Given the description of an element on the screen output the (x, y) to click on. 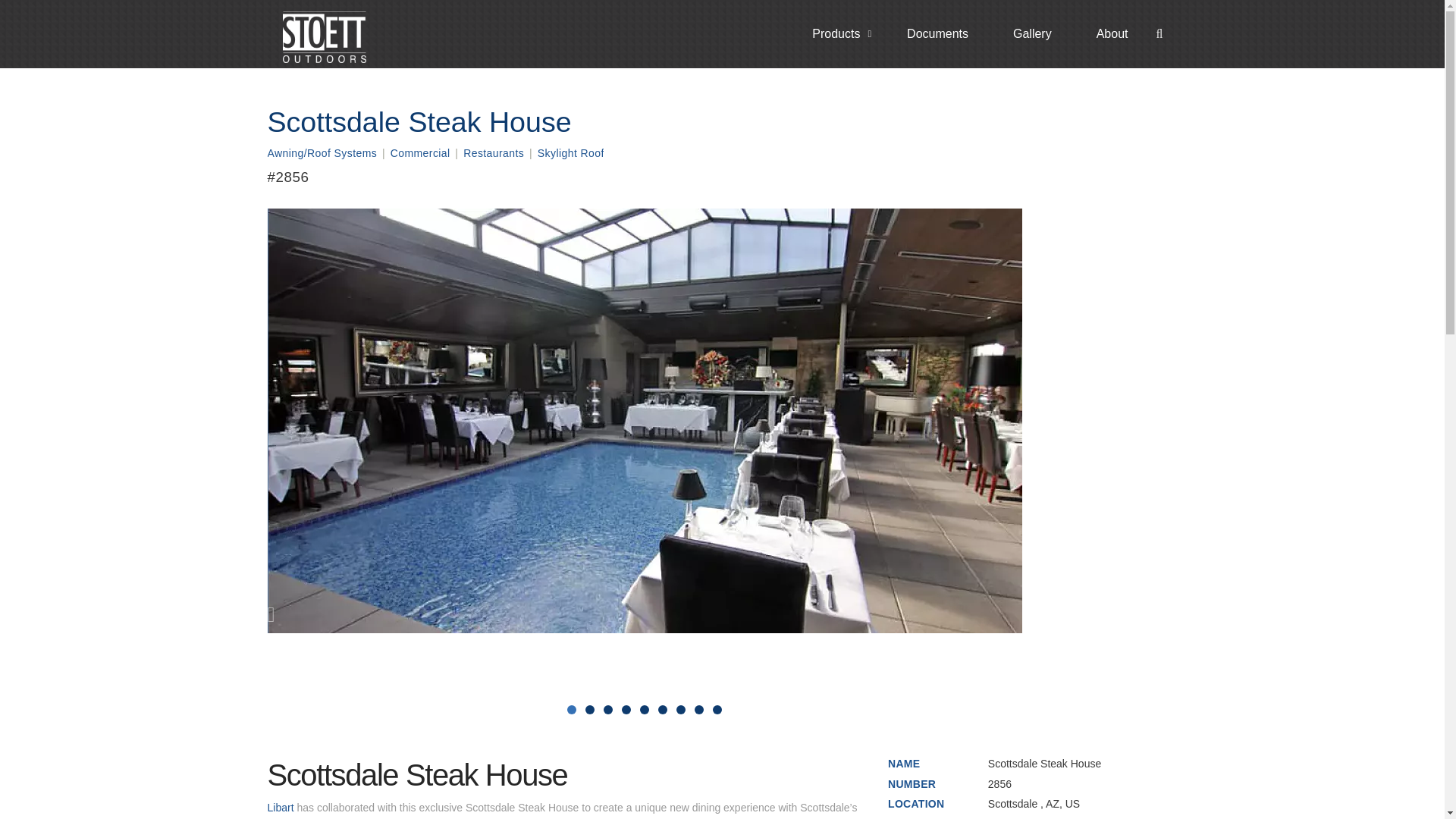
About (1102, 34)
Restaurants (493, 154)
Skylight Roof (570, 154)
Gallery (1022, 34)
Commercial (419, 154)
Libart (280, 807)
Documents (928, 34)
